Given the description of an element on the screen output the (x, y) to click on. 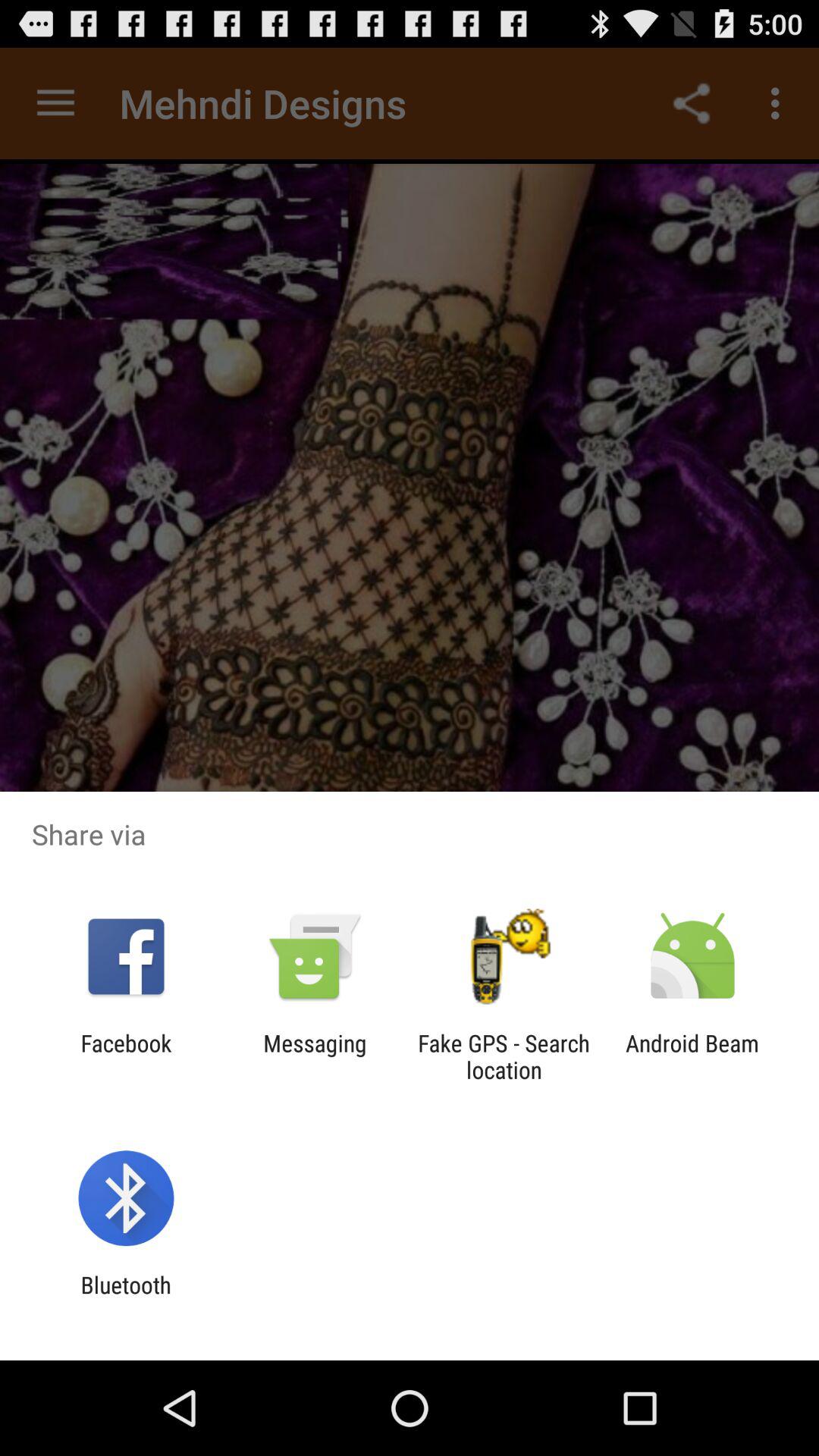
press icon next to the messaging item (125, 1056)
